Given the description of an element on the screen output the (x, y) to click on. 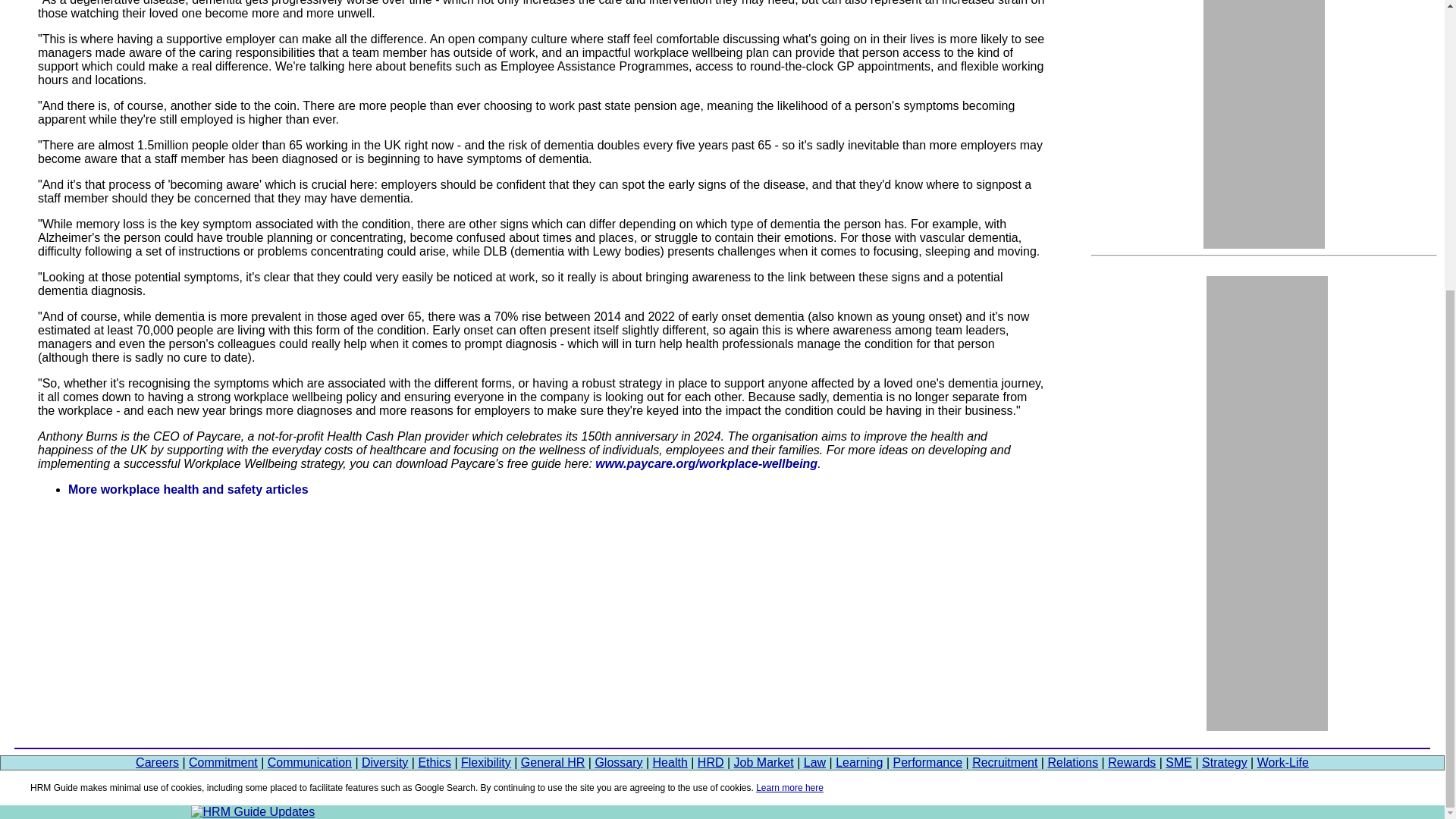
General HR (553, 762)
Learning (858, 762)
Diversity (384, 762)
Rewards (1132, 762)
Careers (157, 762)
Law (814, 762)
Glossary (618, 762)
Job Market (763, 762)
HRD (710, 762)
Recruitment (1004, 762)
